Given the description of an element on the screen output the (x, y) to click on. 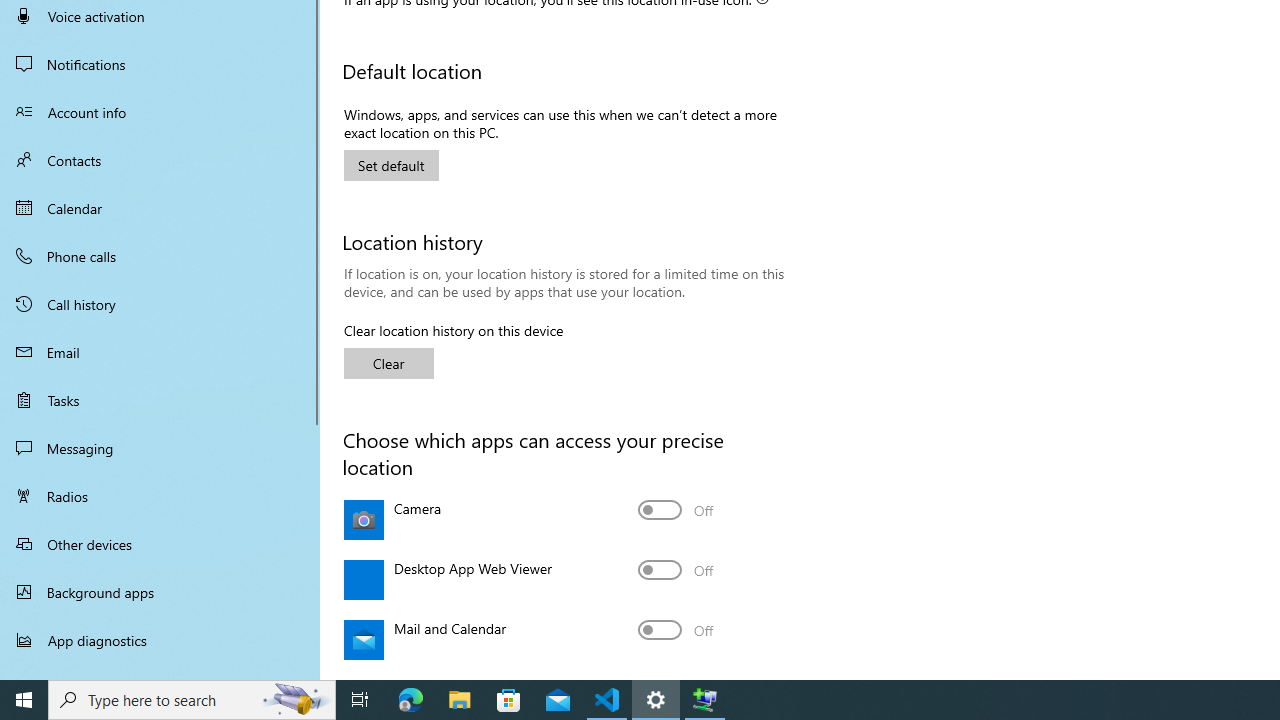
Notifications (160, 63)
Extensible Wizards Host Process - 1 running window (704, 699)
Tasks (160, 399)
Maps (675, 676)
Messaging (160, 448)
Email (160, 351)
Account info (160, 111)
Set default (391, 164)
